Given the description of an element on the screen output the (x, y) to click on. 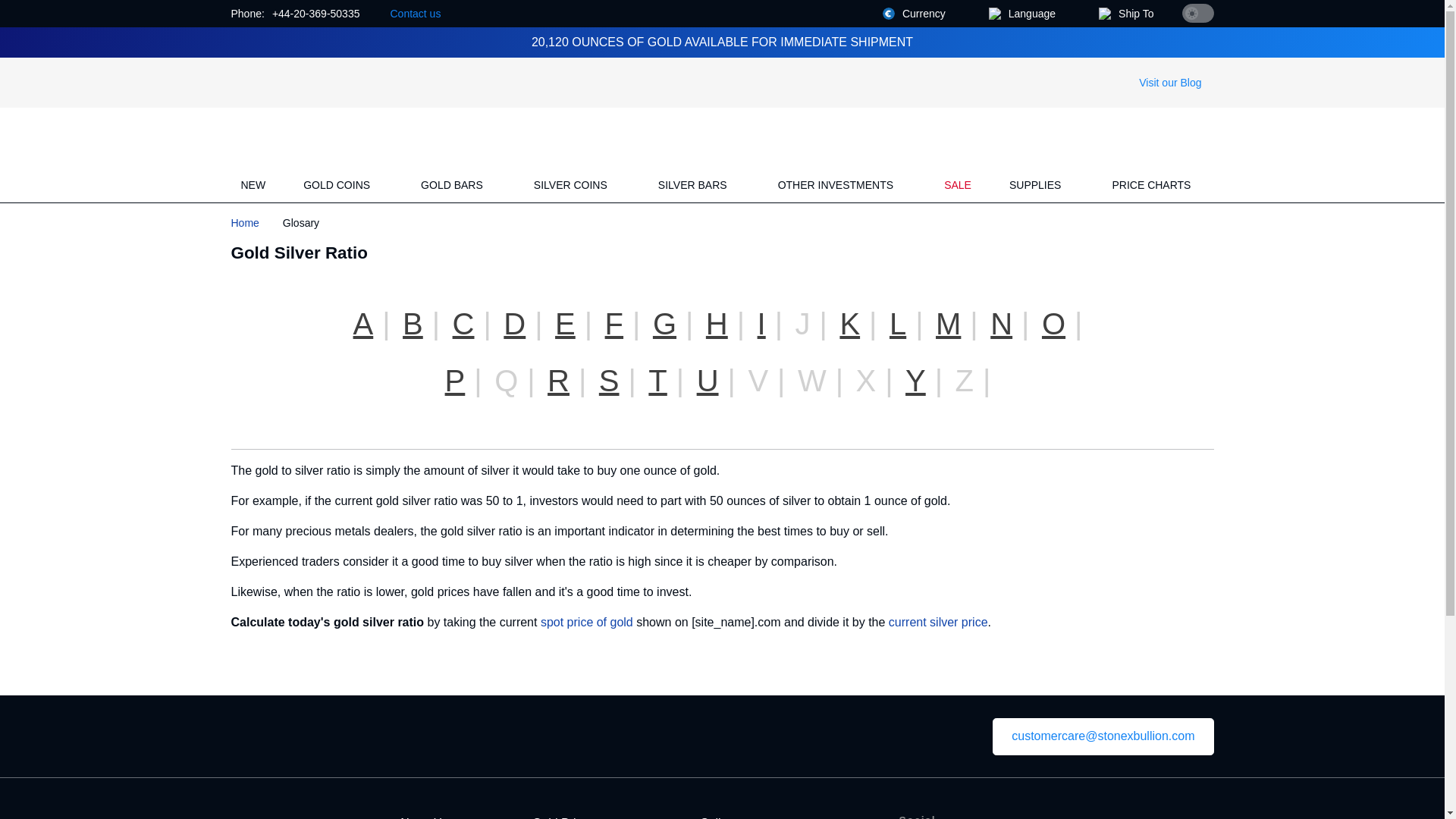
Language (1028, 13)
Gold Price (560, 817)
Contact us (414, 13)
Currency (920, 13)
on (1196, 13)
StoneX Bullion (283, 136)
Ship To (1131, 13)
Sell to us (725, 817)
About Us (422, 817)
